Given the description of an element on the screen output the (x, y) to click on. 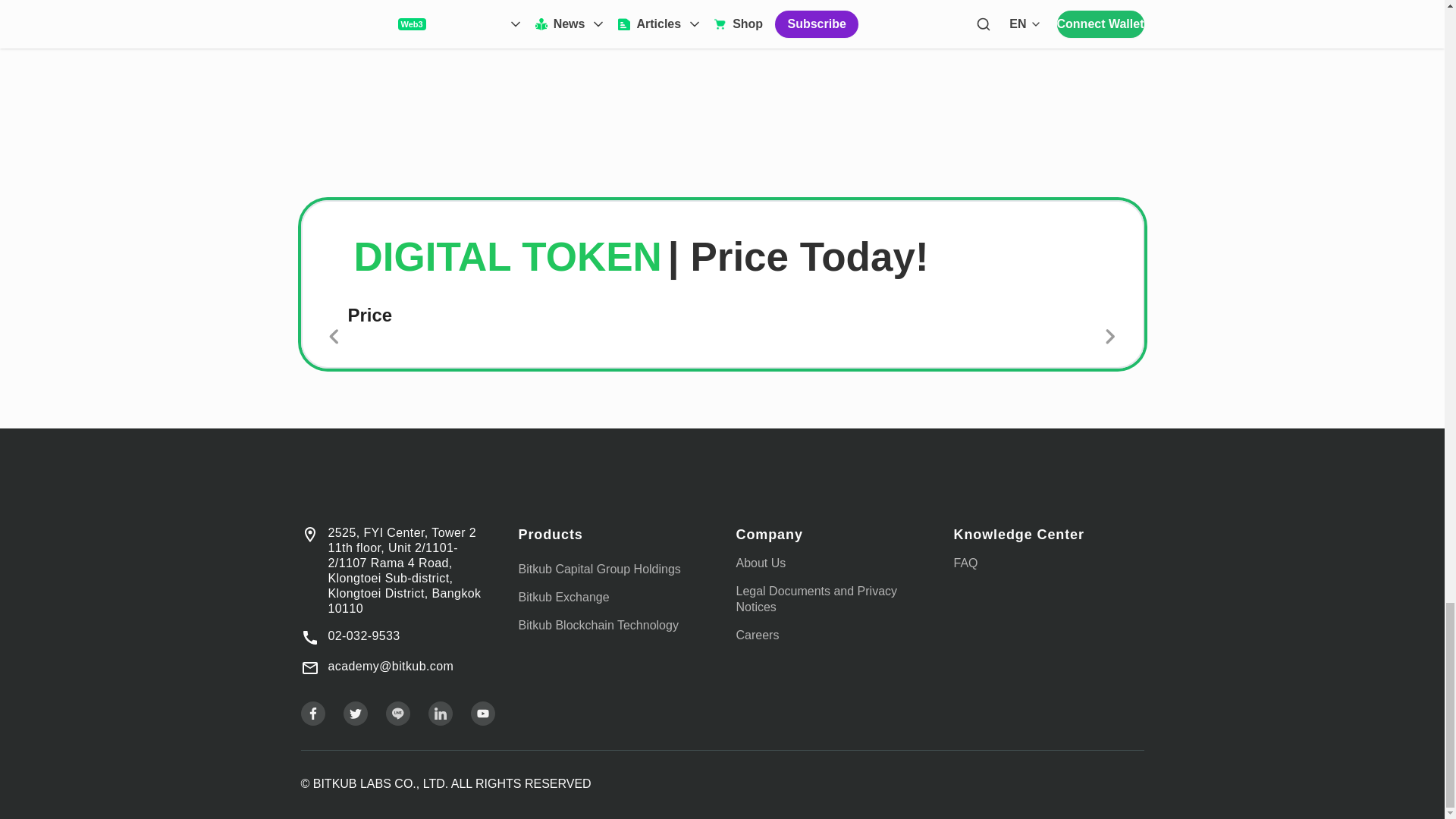
Careers (756, 634)
Facebook (311, 713)
About Us (760, 562)
Line (397, 713)
Legal Documents and Privacy Notices (815, 598)
FAQ (965, 562)
Youtube (482, 713)
Bitkub Blockchain Technology (598, 625)
Twitter (354, 713)
Bitkub Capital Group Holdings (599, 568)
